Given the description of an element on the screen output the (x, y) to click on. 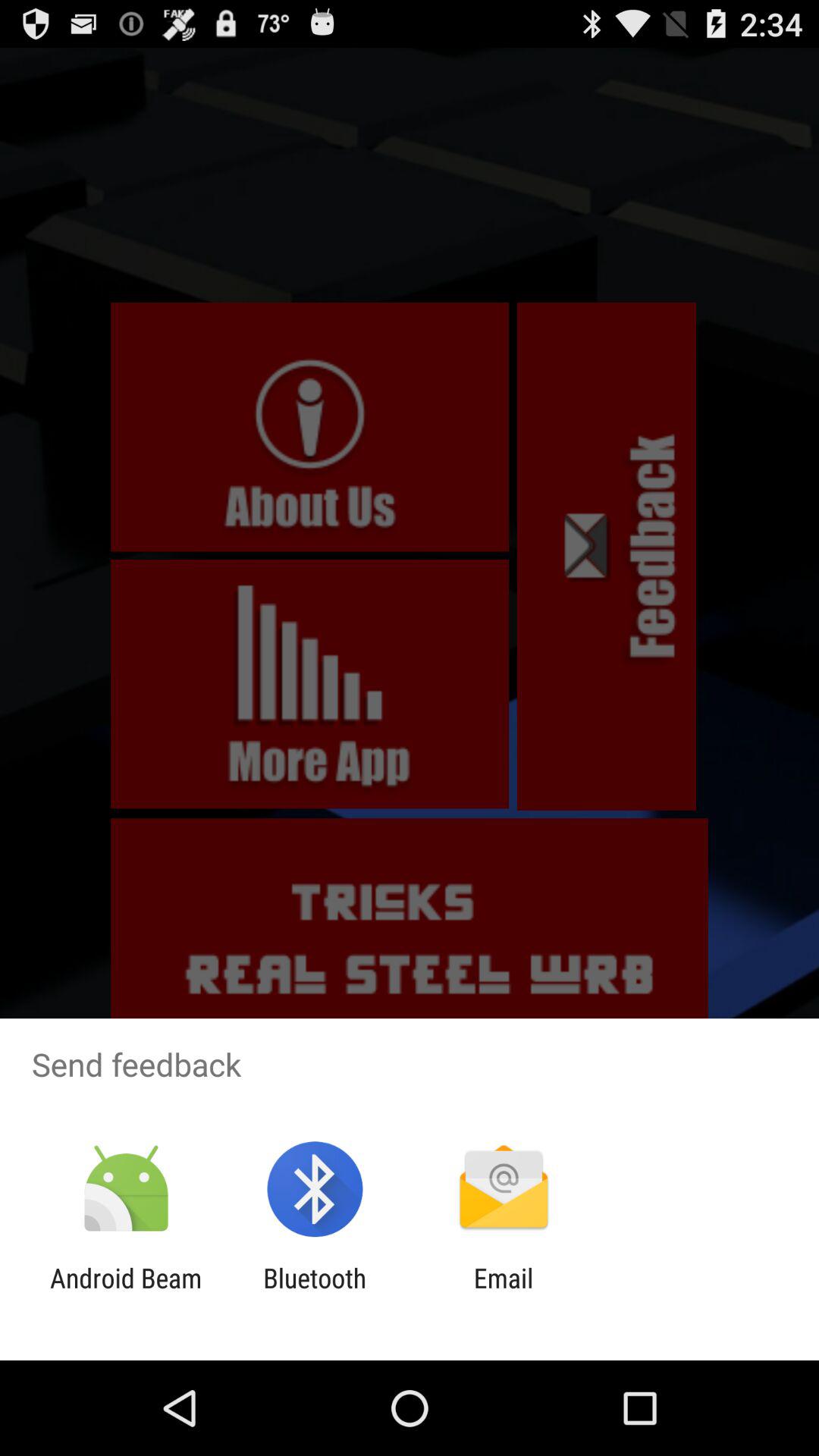
press the android beam item (125, 1293)
